Given the description of an element on the screen output the (x, y) to click on. 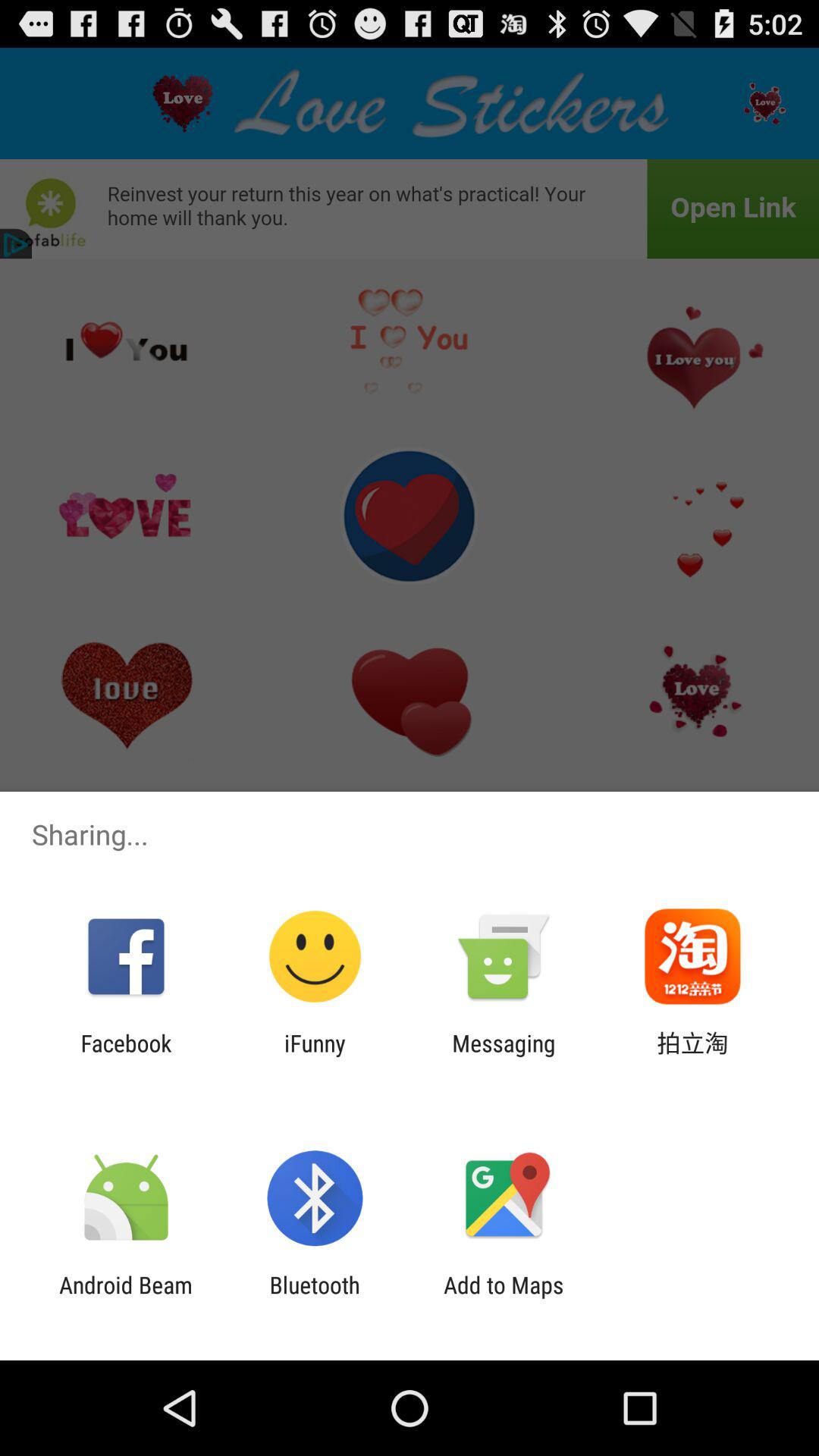
turn off the messaging app (503, 1056)
